Given the description of an element on the screen output the (x, y) to click on. 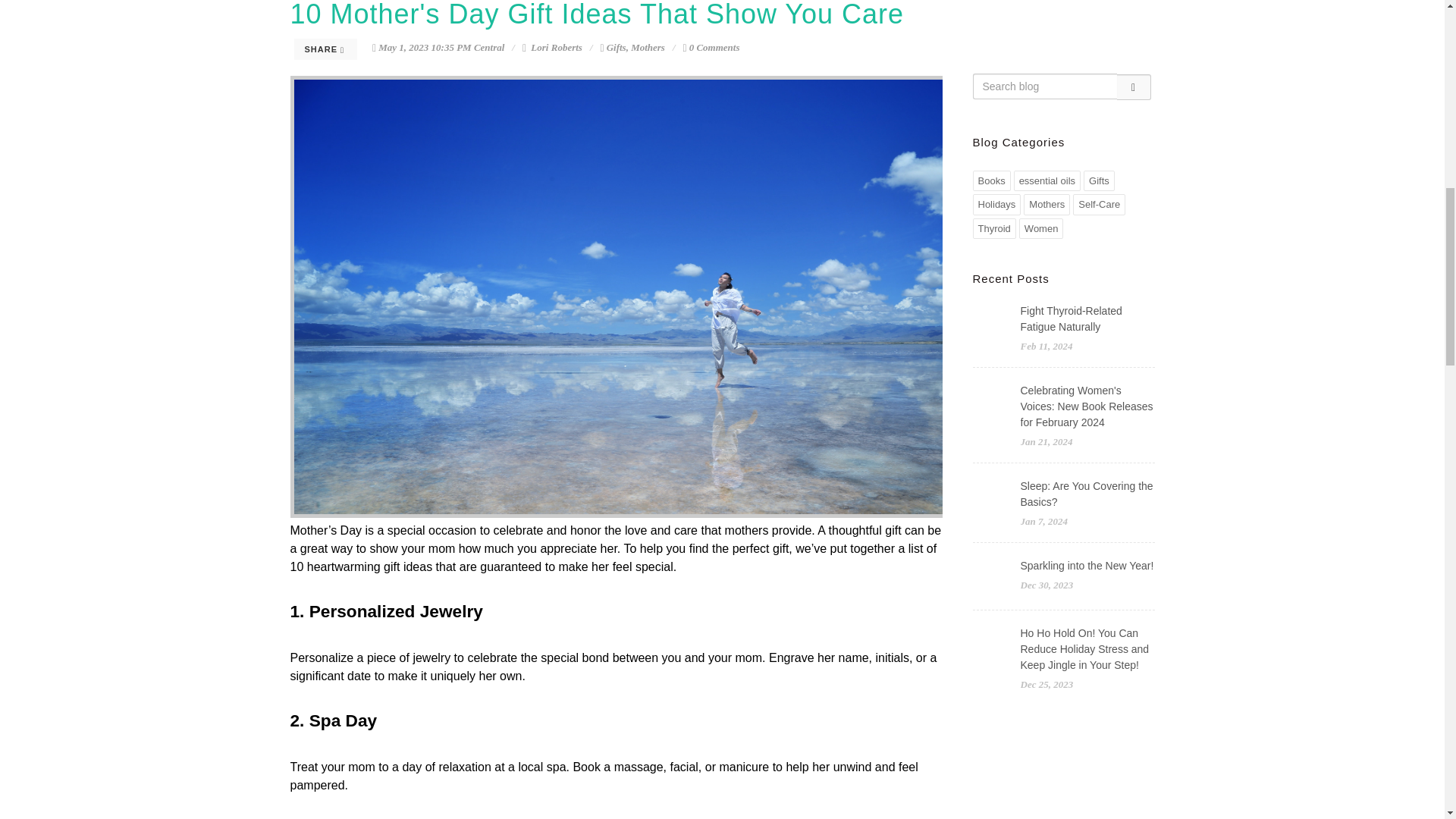
Thyroid (993, 228)
essential oils (1046, 179)
Books (991, 179)
Mothers (647, 47)
Self-Care (1099, 204)
Gifts (1099, 179)
Women (1041, 228)
Holidays (996, 204)
SHARE (326, 48)
